Given the description of an element on the screen output the (x, y) to click on. 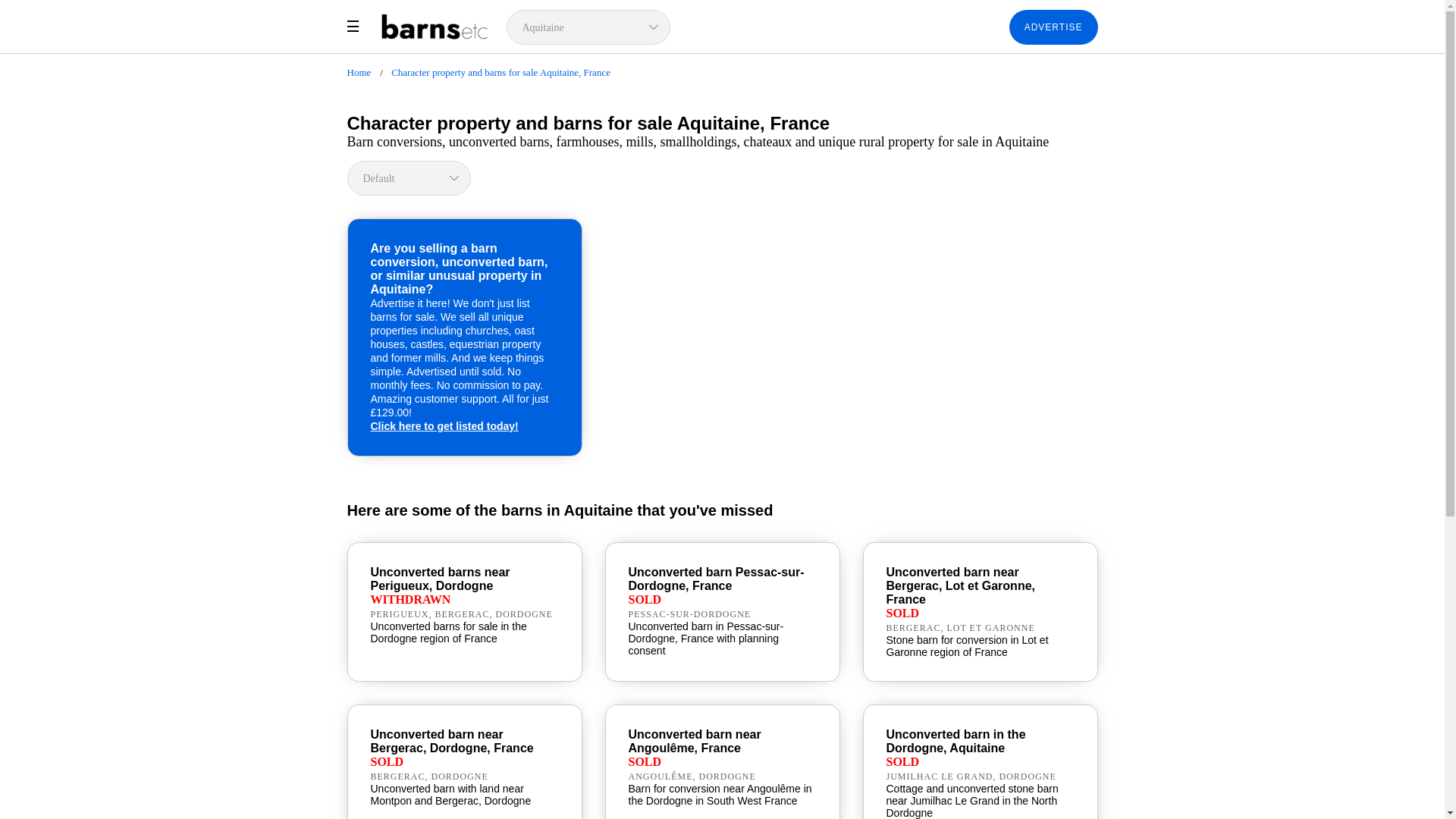
Unconverted barn in the Dordogne, Aquitaine (955, 741)
Unconverted barn near Bergerac, Dordogne, France (450, 741)
Character property and barns for sale Aquitaine, France (500, 71)
Unconverted barn Pessac-sur-Dordogne, France (715, 578)
Unconverted barn near Bergerac, Lot et Garonne, France (960, 585)
Unconverted barns near Perigueux, Dordogne (439, 578)
Home (359, 71)
ADVERTISE (1053, 27)
